Given the description of an element on the screen output the (x, y) to click on. 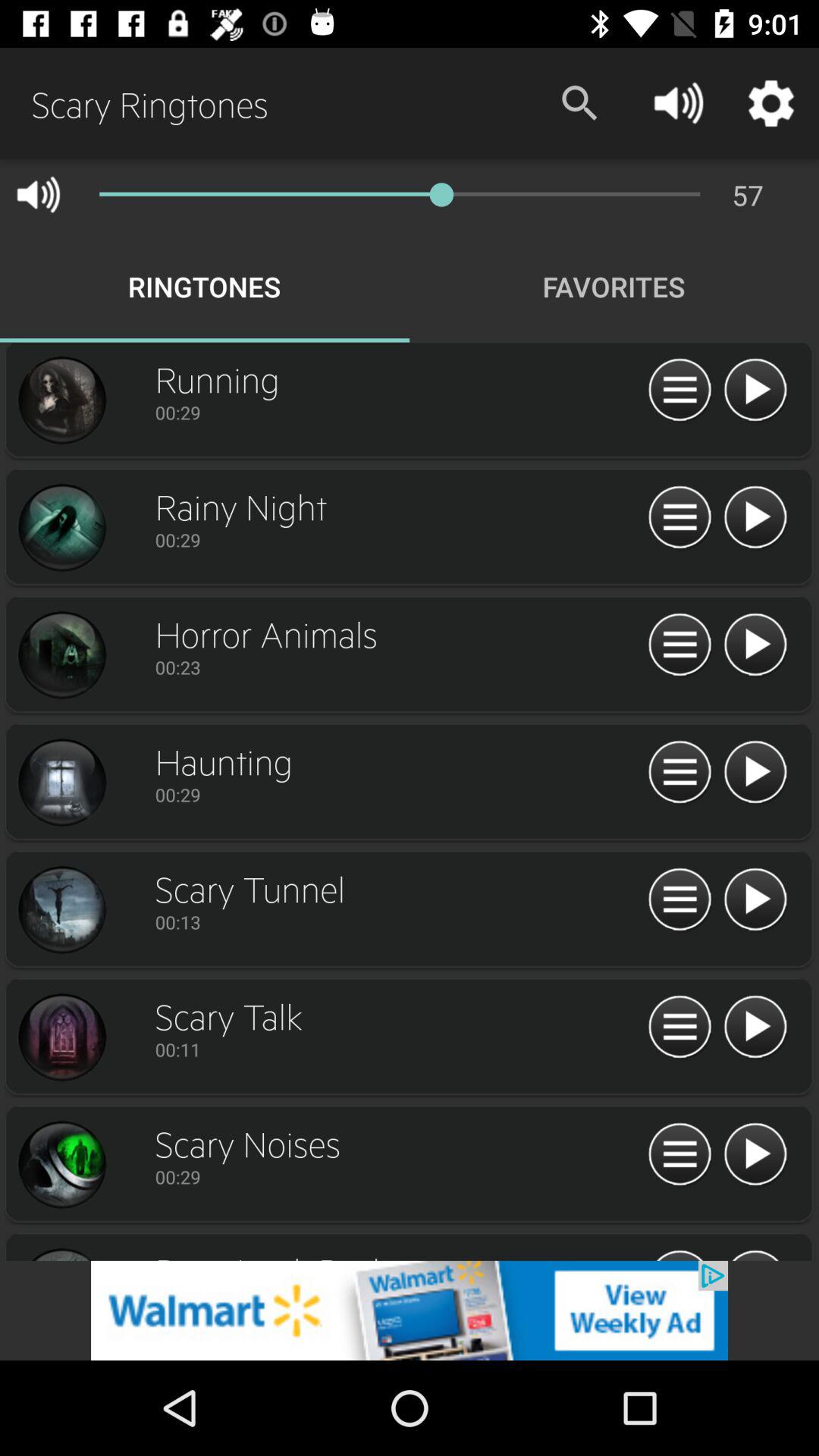
play 'horror animals ringtone (755, 645)
